Given the description of an element on the screen output the (x, y) to click on. 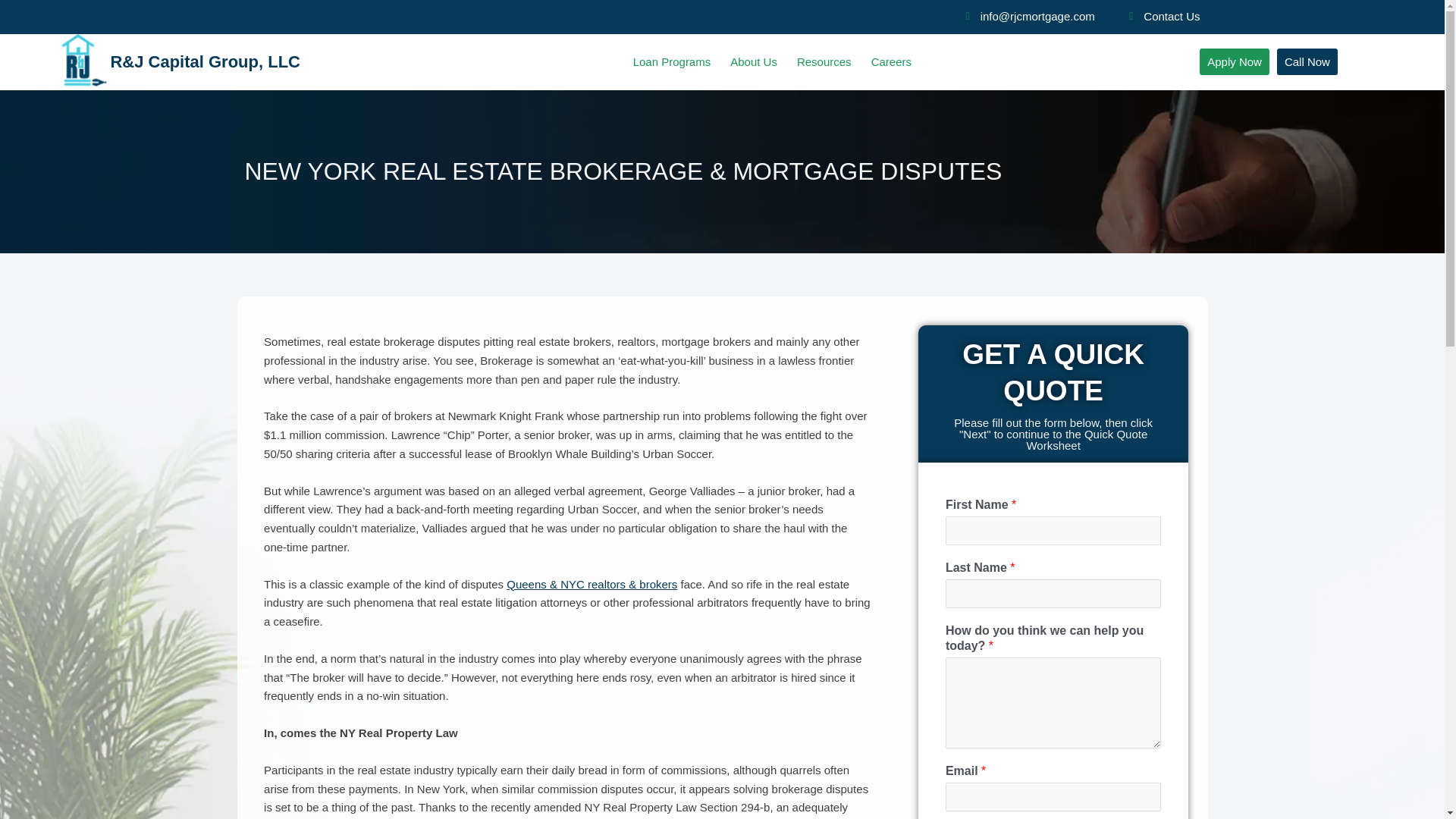
About Us (753, 62)
Contact Us (1159, 16)
Loan Programs (671, 62)
Careers (891, 62)
Resources (824, 62)
